Given the description of an element on the screen output the (x, y) to click on. 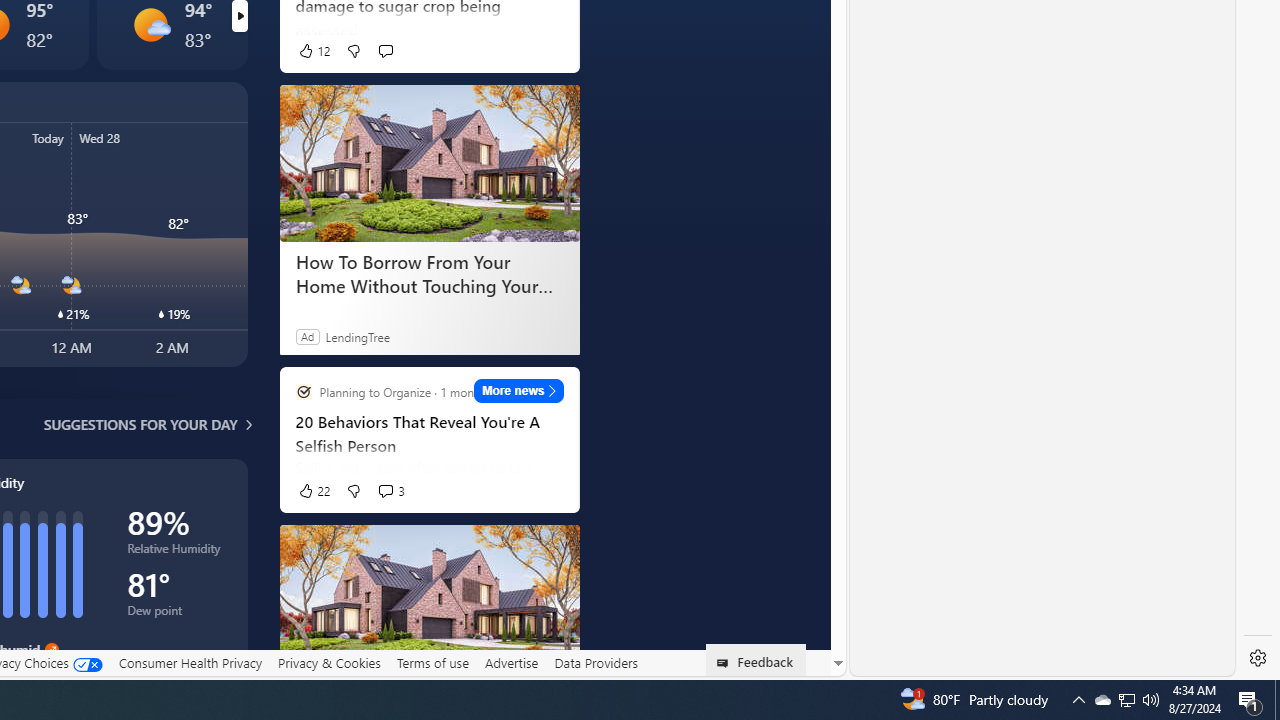
Data Providers (595, 663)
Consumer Health Privacy (189, 662)
Switch right (239, 15)
Suggestions for your day (140, 424)
Advertise (510, 663)
Consumer Health Privacy (189, 663)
Dew point (176, 614)
Ad (306, 336)
